Given the description of an element on the screen output the (x, y) to click on. 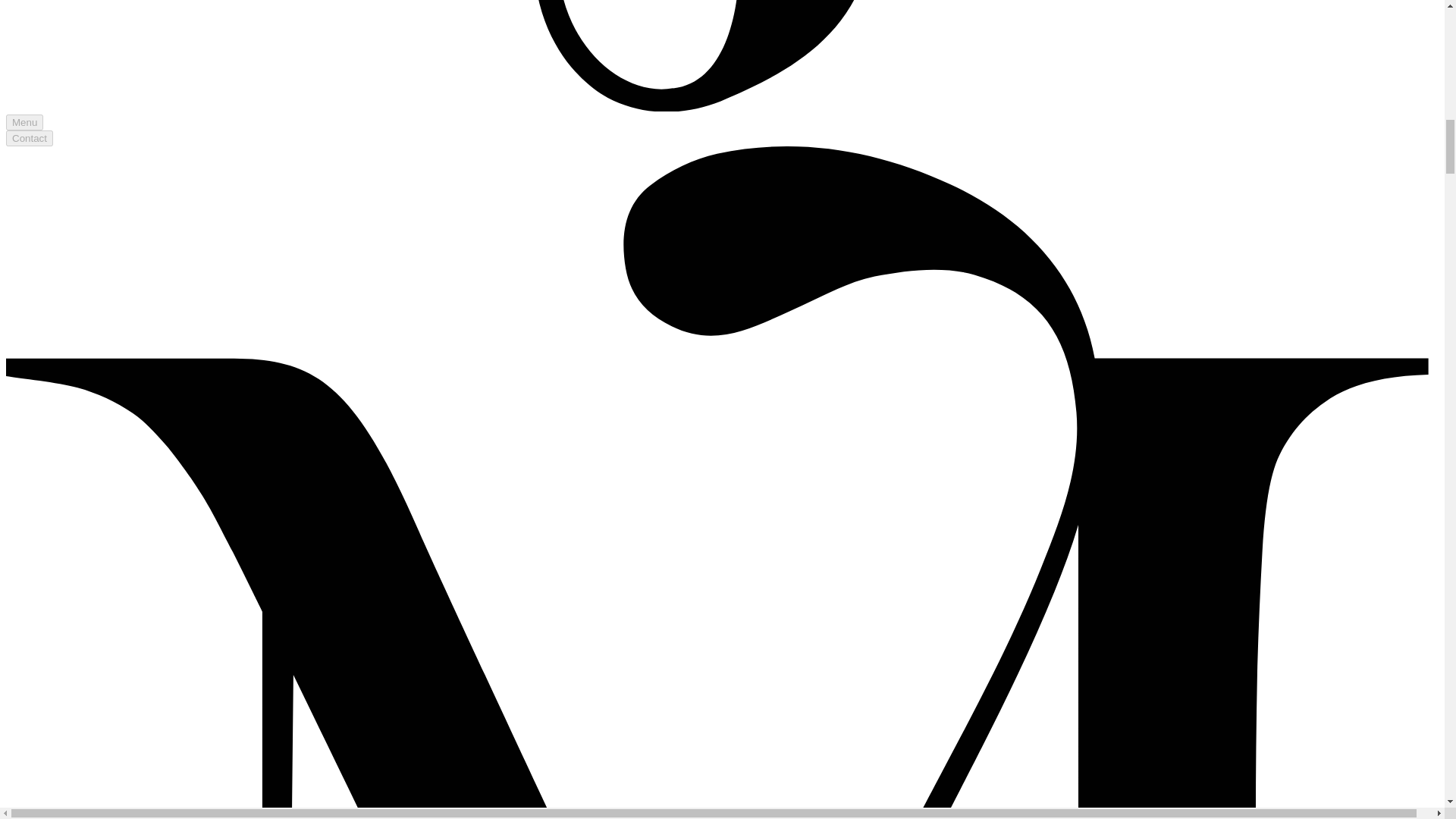
Contact (28, 138)
Menu (24, 122)
